Given the description of an element on the screen output the (x, y) to click on. 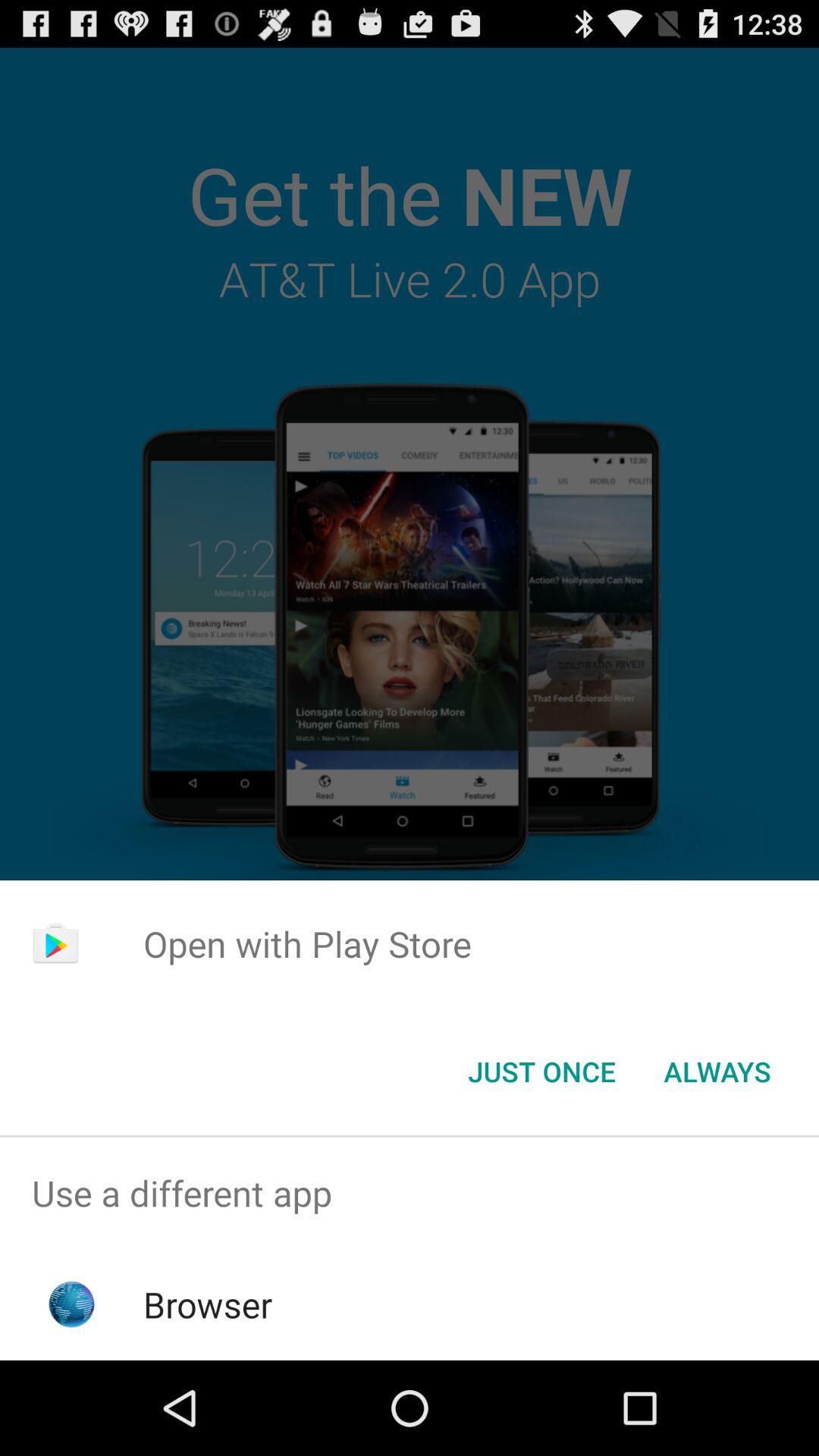
click item next to just once icon (717, 1071)
